Given the description of an element on the screen output the (x, y) to click on. 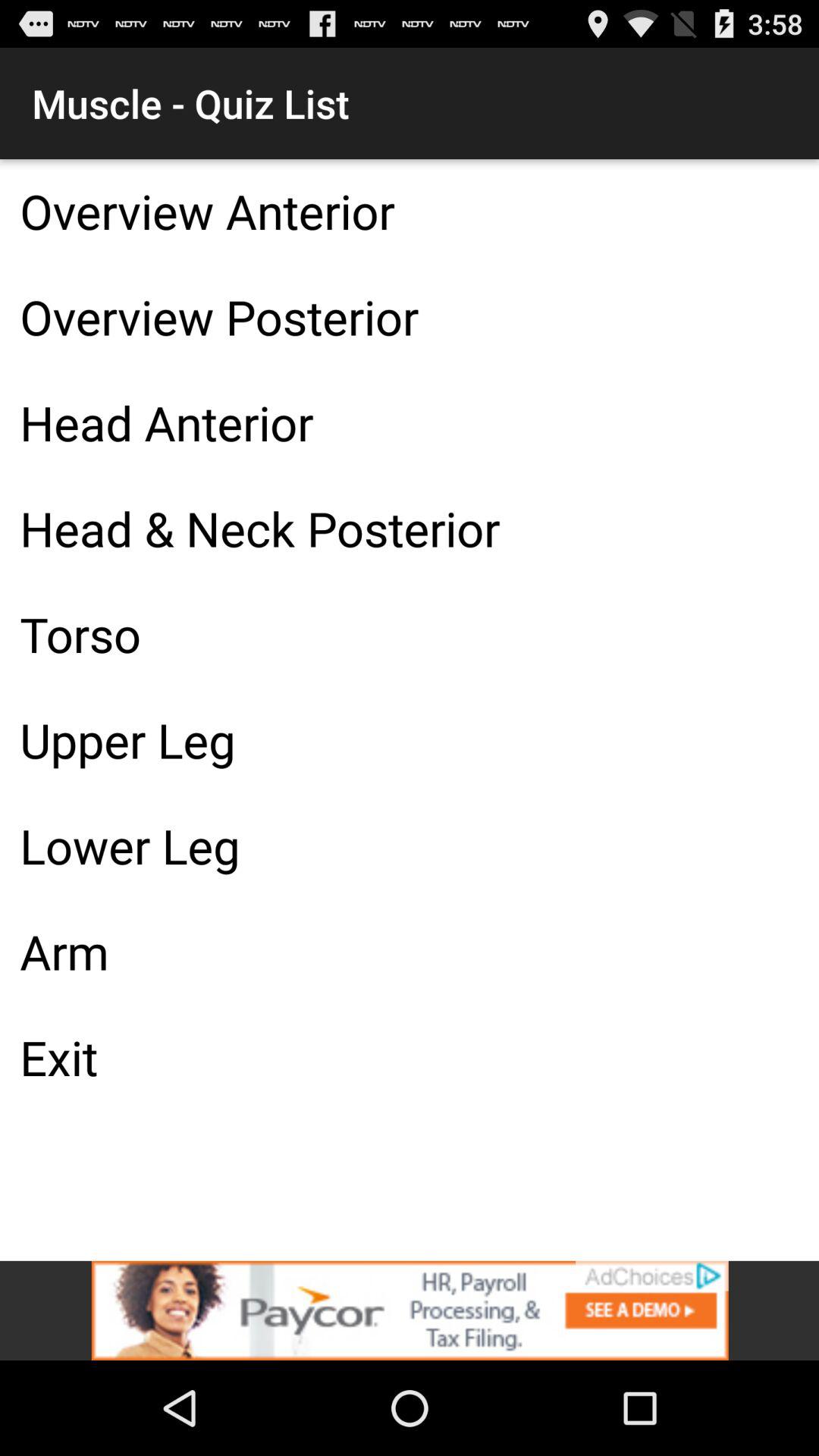
advertisement banner would take off site (409, 1310)
